Given the description of an element on the screen output the (x, y) to click on. 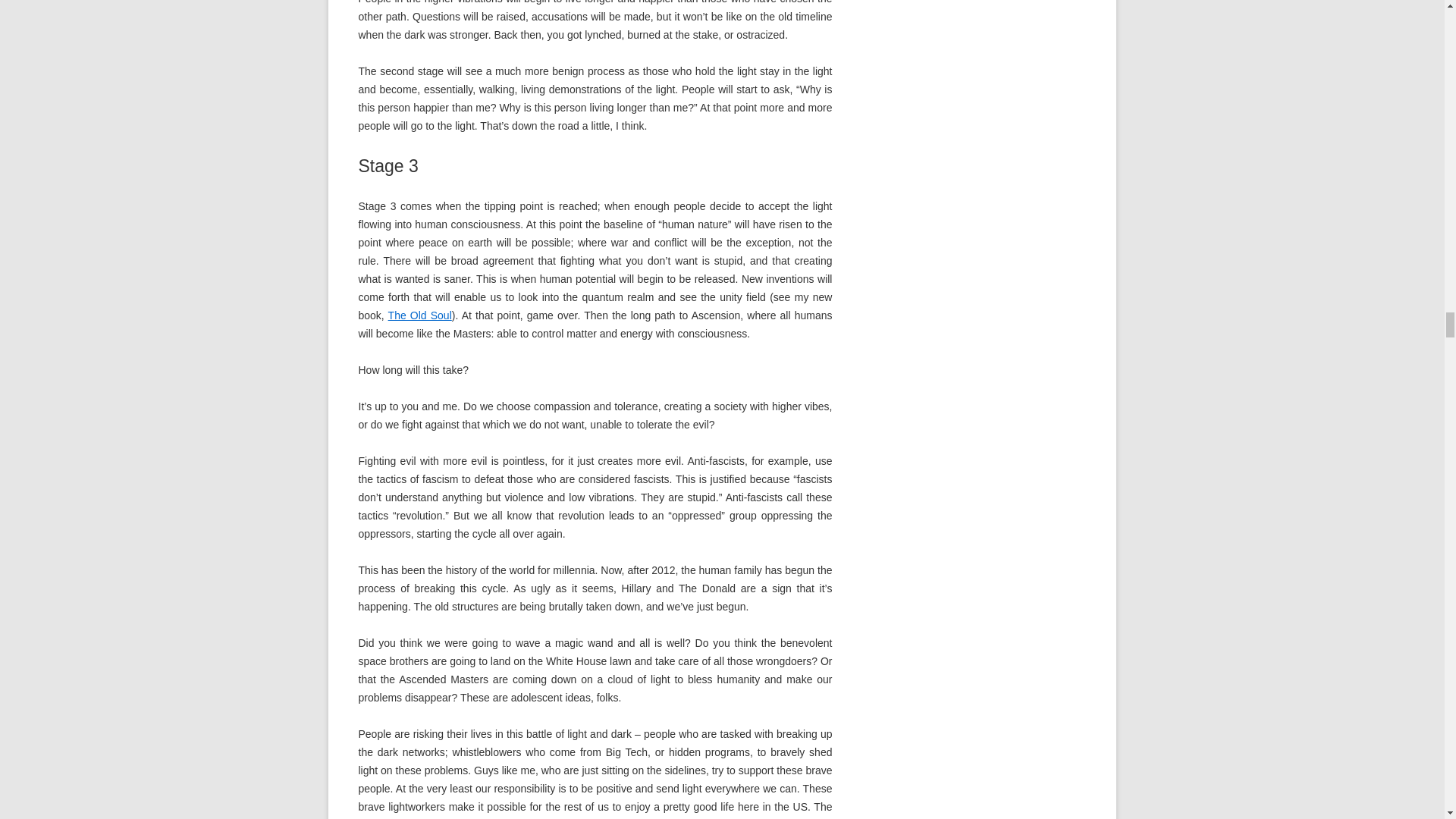
The Old Soul (419, 315)
